Given the description of an element on the screen output the (x, y) to click on. 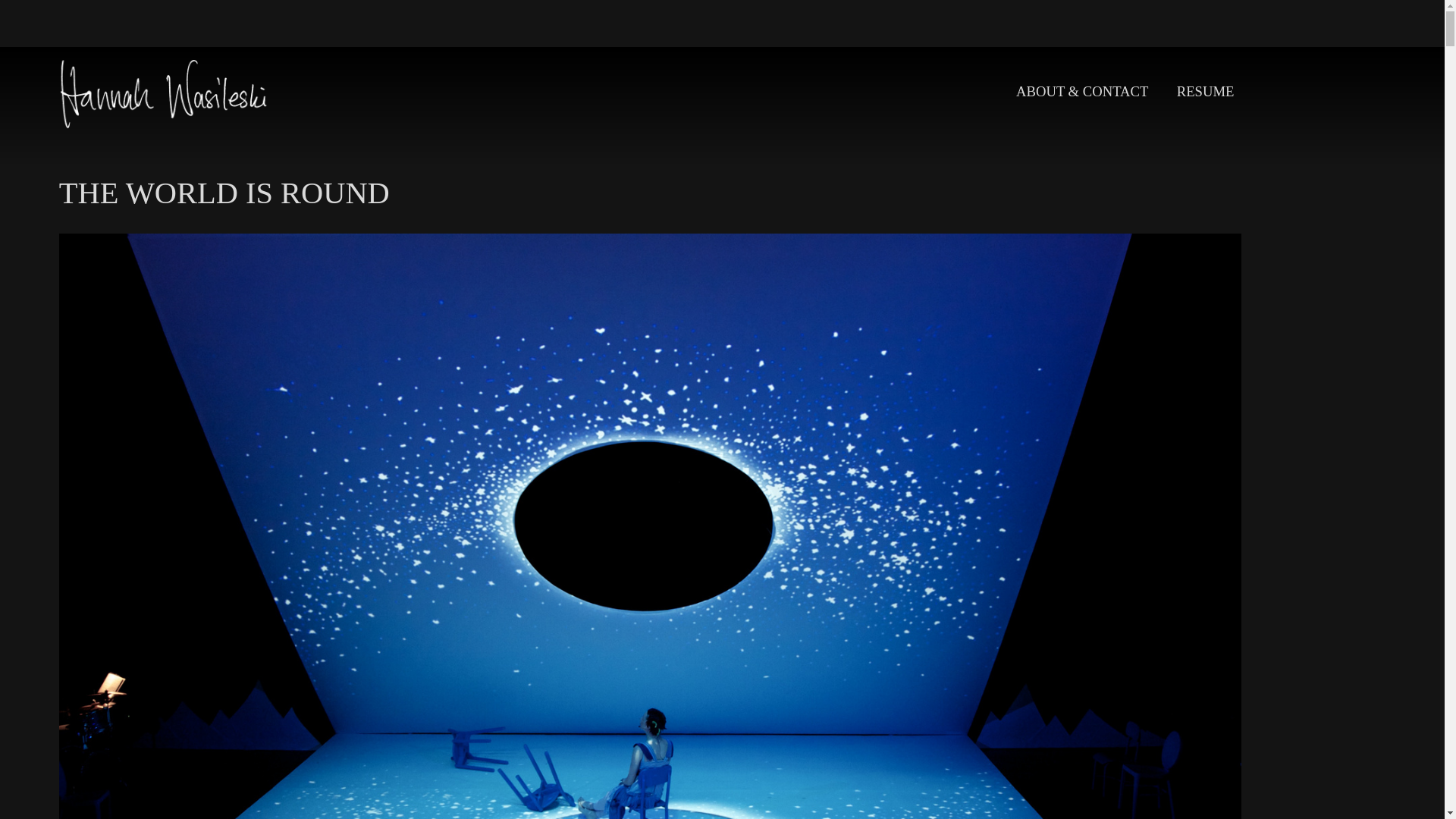
RESUME (1204, 91)
